Given the description of an element on the screen output the (x, y) to click on. 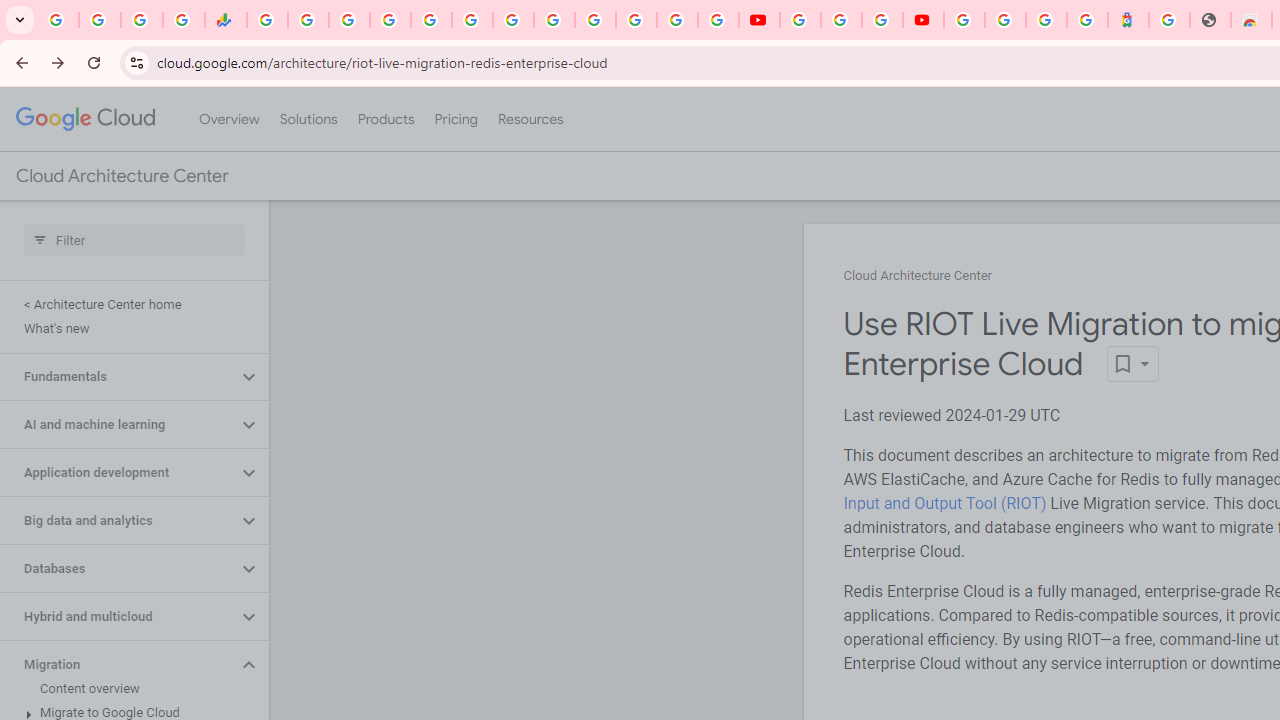
Migration (118, 664)
Hybrid and multicloud (118, 616)
AI and machine learning (118, 425)
Sign in - Google Accounts (964, 20)
Resources (530, 119)
Type to filter (134, 239)
YouTube (553, 20)
Android TV Policies and Guidelines - Transparency Center (512, 20)
Pricing (455, 119)
Overview (228, 119)
YouTube (758, 20)
